Given the description of an element on the screen output the (x, y) to click on. 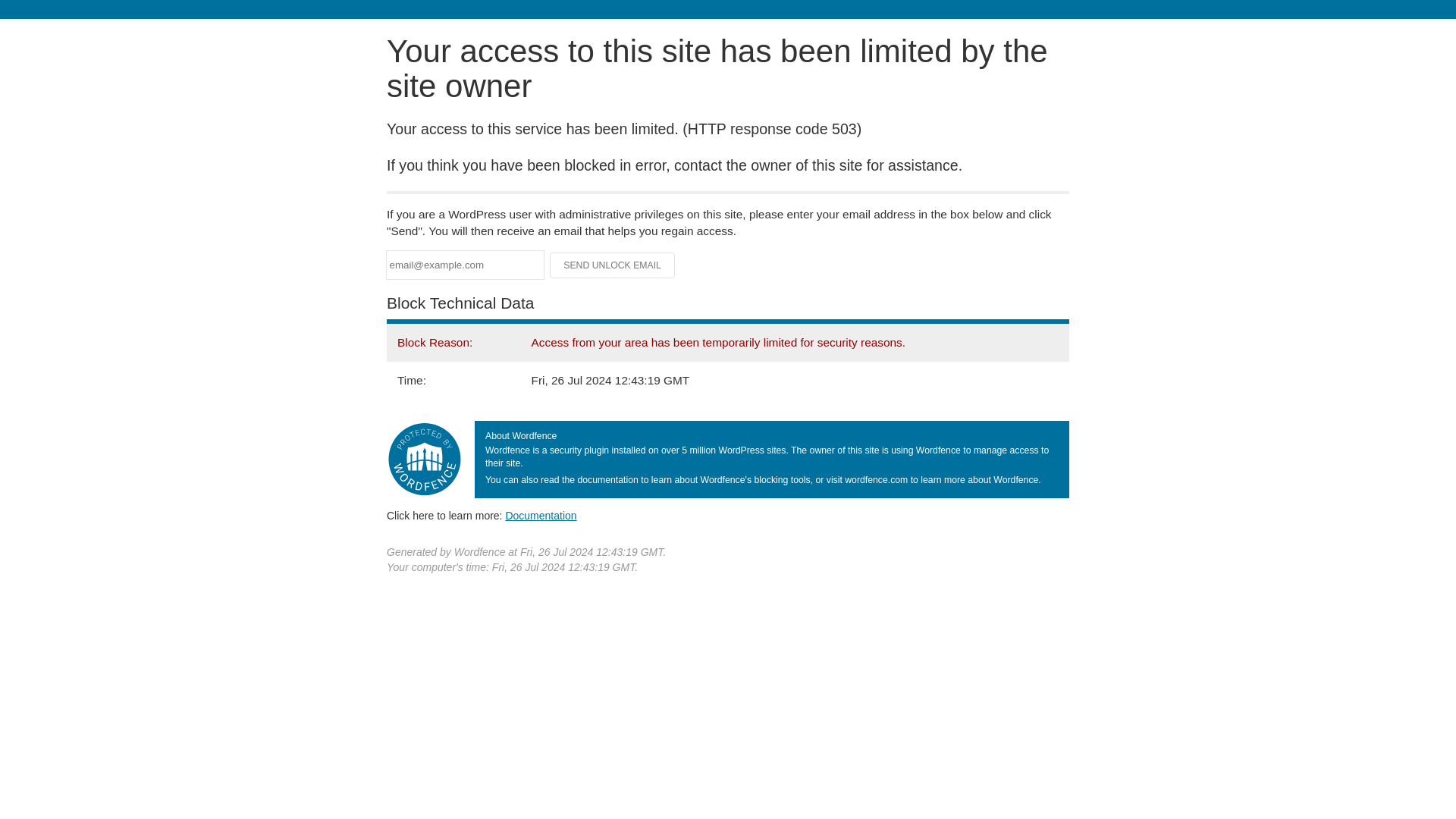
Documentation (540, 515)
Send Unlock Email (612, 265)
Send Unlock Email (612, 265)
